Given the description of an element on the screen output the (x, y) to click on. 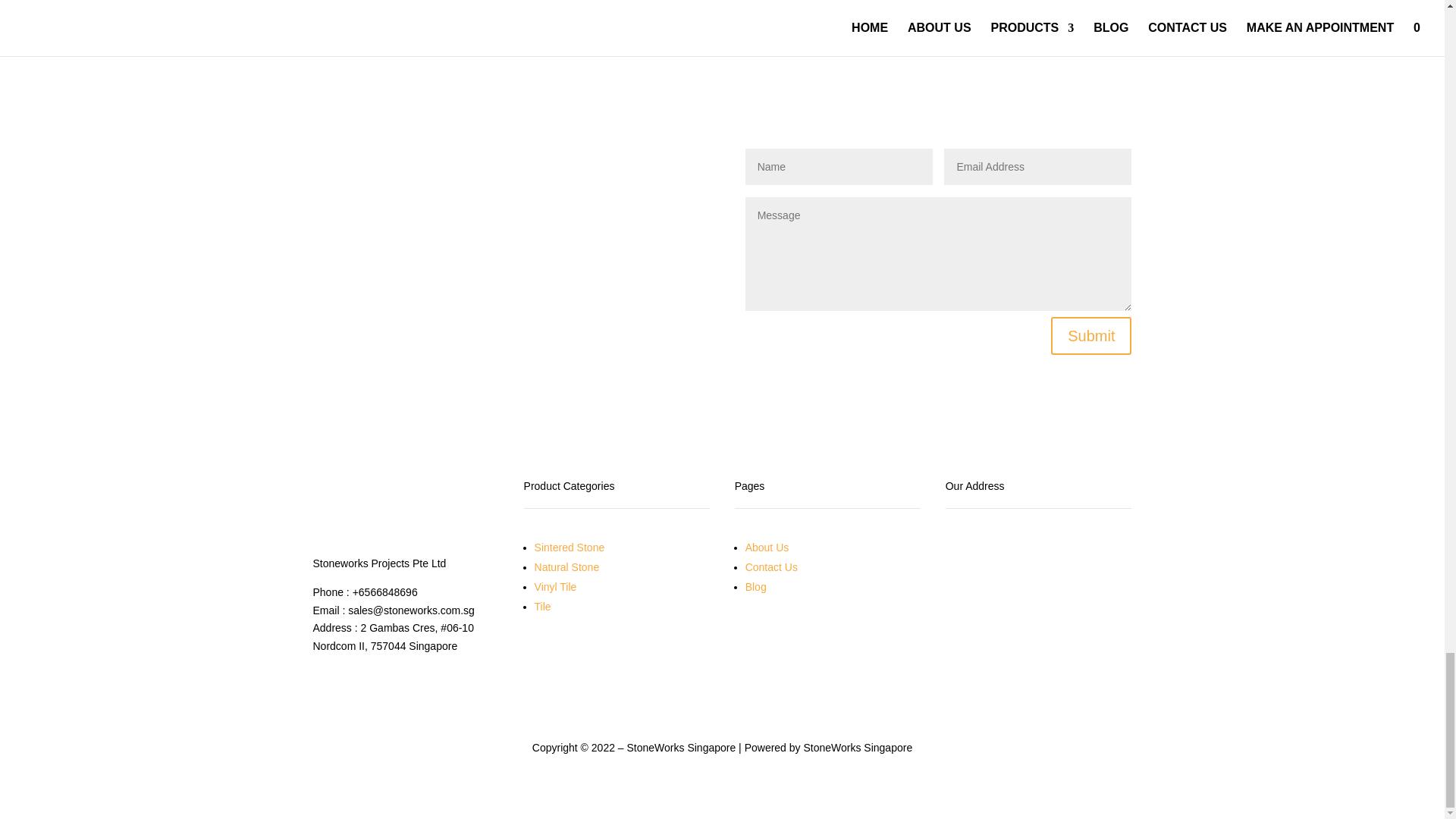
Follow on WhatsApp (354, 680)
Follow on Pinterest (445, 680)
Follow on Facebook (324, 680)
Stone-works-2-1536x539 (406, 509)
Follow on LinkedIn (415, 680)
Follow on Instagram (384, 680)
